Given the description of an element on the screen output the (x, y) to click on. 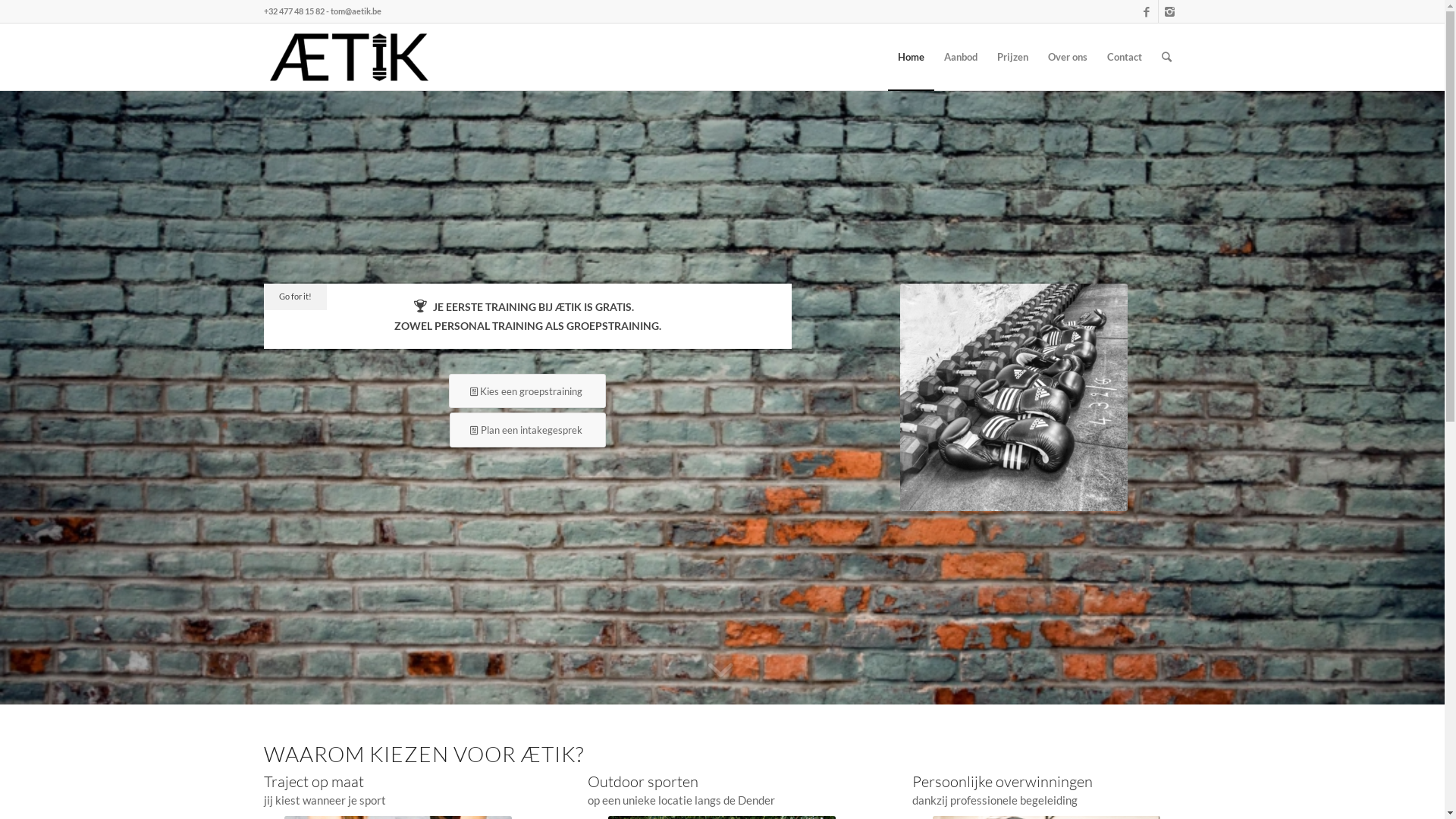
Over ons Element type: text (1066, 56)
Contact Element type: text (1123, 56)
Home Element type: text (910, 56)
Aanbod Element type: text (960, 56)
Kies een groepstraining Element type: text (526, 390)
Plan een intakegesprek Element type: text (527, 429)
Geen bokstrainingen Element type: hover (1013, 397)
Facebook Element type: hover (1146, 11)
Prijzen Element type: text (1012, 56)
+32 477 48 15 82 Element type: text (293, 10)
tom@aetik.be Element type: text (355, 10)
Instagram Element type: hover (1169, 11)
